Given the description of an element on the screen output the (x, y) to click on. 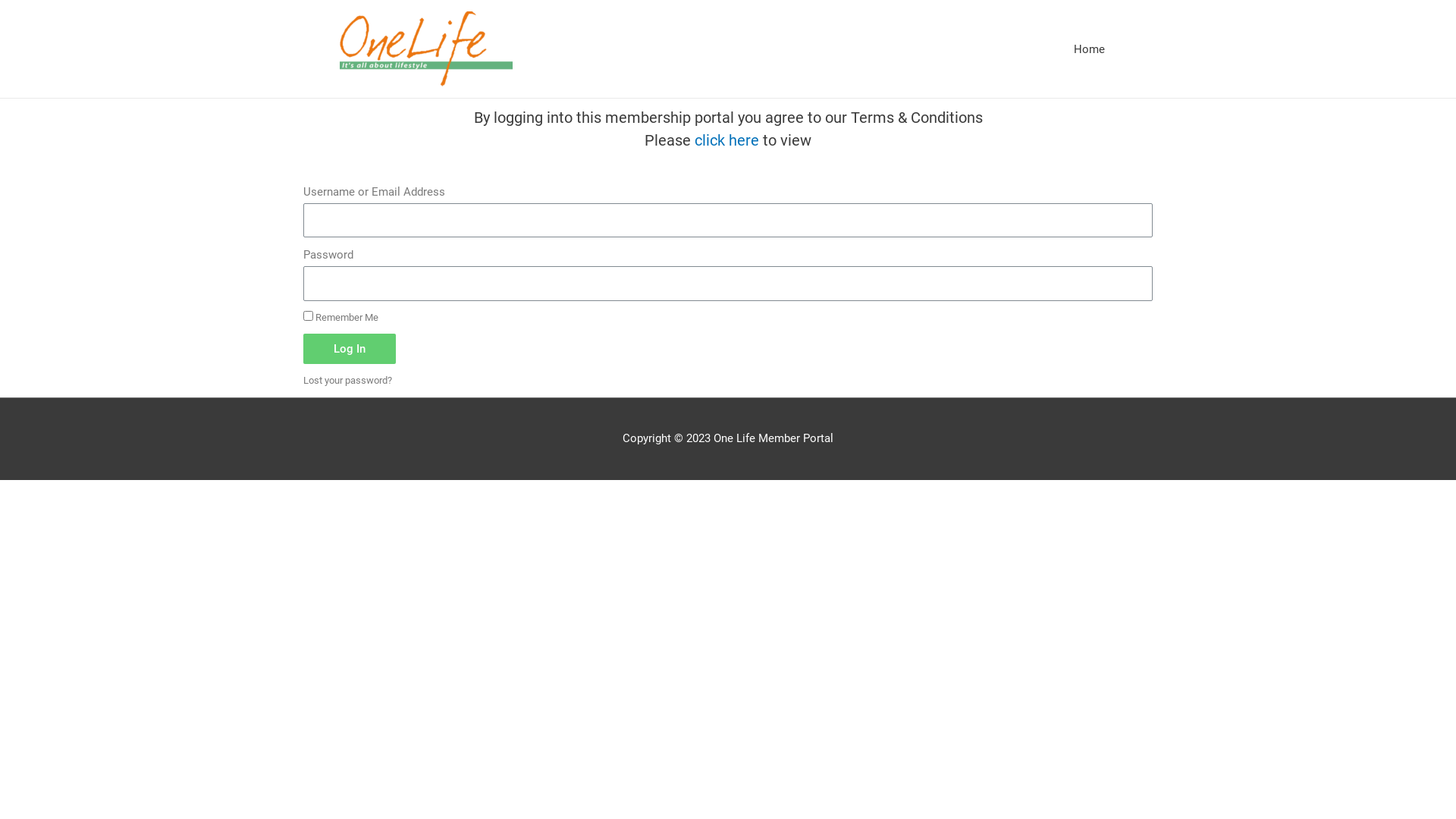
Home Element type: text (1089, 48)
Lost your password? Element type: text (347, 380)
Log In Element type: text (349, 348)
click here Element type: text (726, 140)
